Given the description of an element on the screen output the (x, y) to click on. 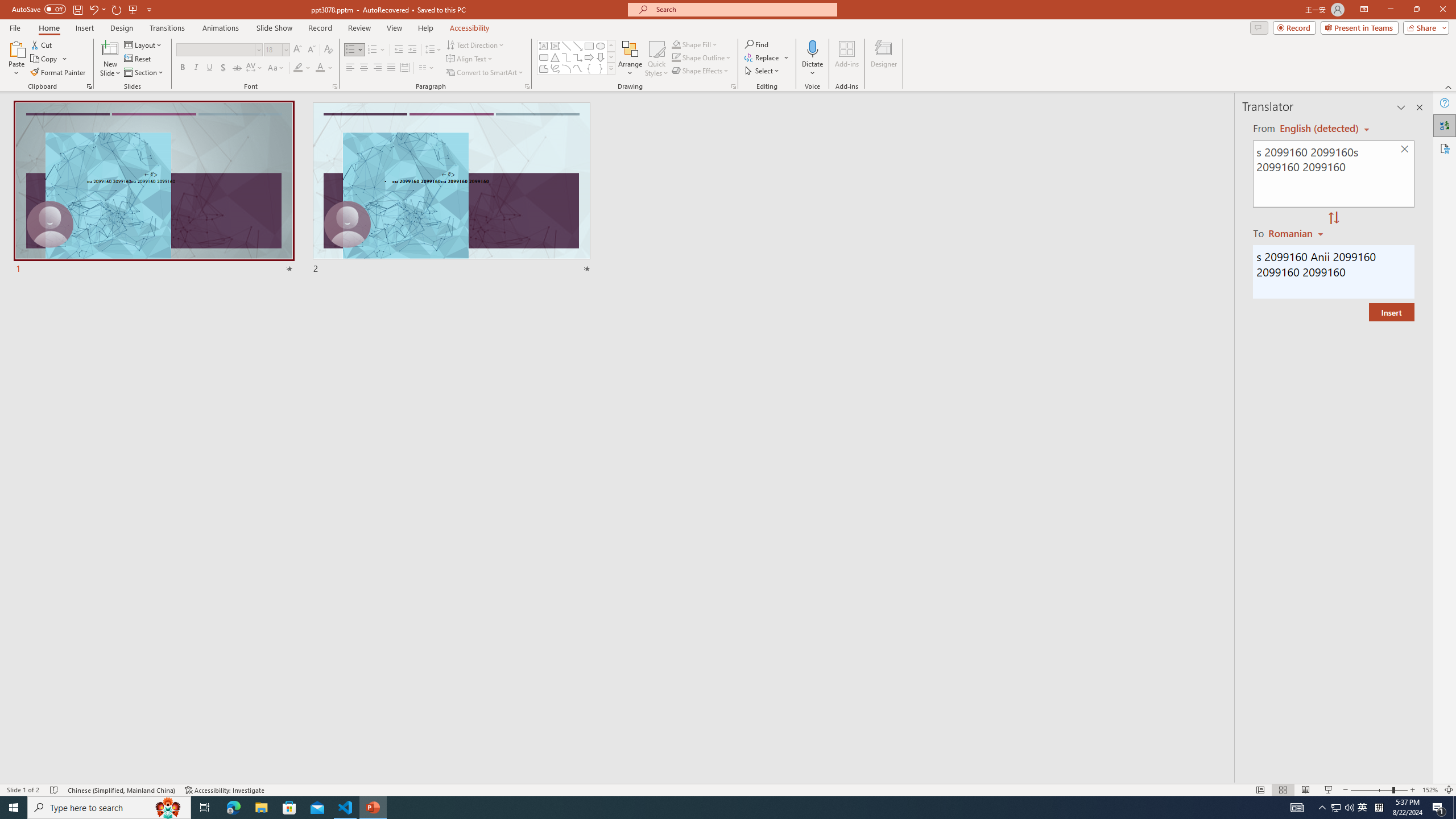
Shape Fill Dark Green, Accent 2 (675, 44)
